Given the description of an element on the screen output the (x, y) to click on. 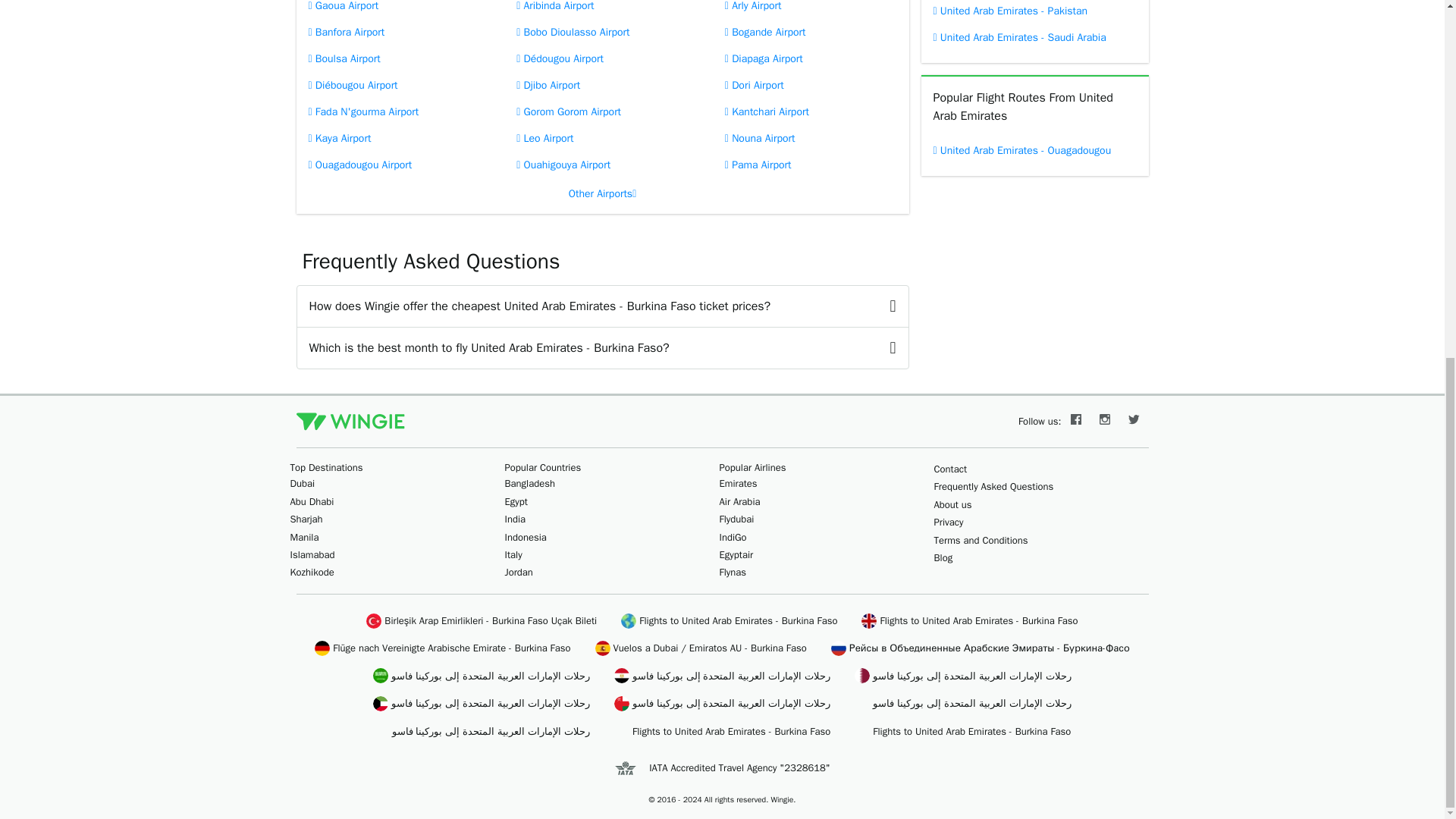
Bobo Dioulasso Airport (601, 31)
Aribinda Airport (601, 9)
Facebook (1075, 420)
Kozhikode (311, 571)
Gaoua Airport (393, 9)
Sharjah (305, 518)
Banfora Airport (393, 31)
Top Destinations (325, 467)
Arly Airport (810, 9)
United Arab Emirates - Pakistan (1034, 12)
